Given the description of an element on the screen output the (x, y) to click on. 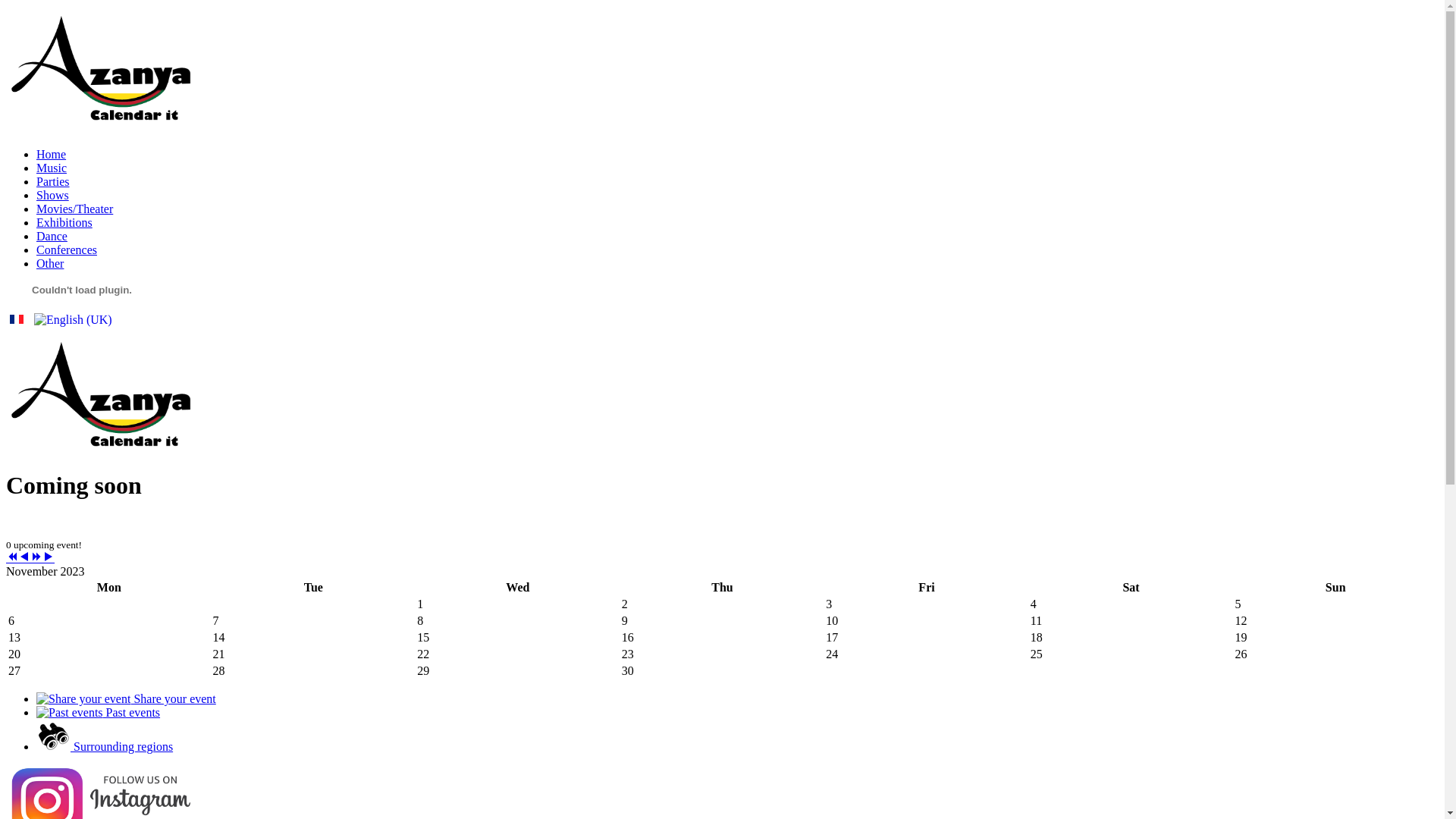
Shows Element type: text (52, 194)
Other Element type: text (49, 263)
Music Element type: text (51, 167)
Dance Element type: text (51, 235)
Share your event Element type: text (126, 698)
Exhibitions Element type: text (64, 222)
Surrounding regions Element type: text (104, 746)
English (UK) Element type: hover (73, 319)
Past events Element type: text (98, 712)
Home Element type: text (50, 153)
Movies/Theater Element type: text (74, 208)
Conferences Element type: text (66, 249)
Parties Element type: text (52, 181)
